Given the description of an element on the screen output the (x, y) to click on. 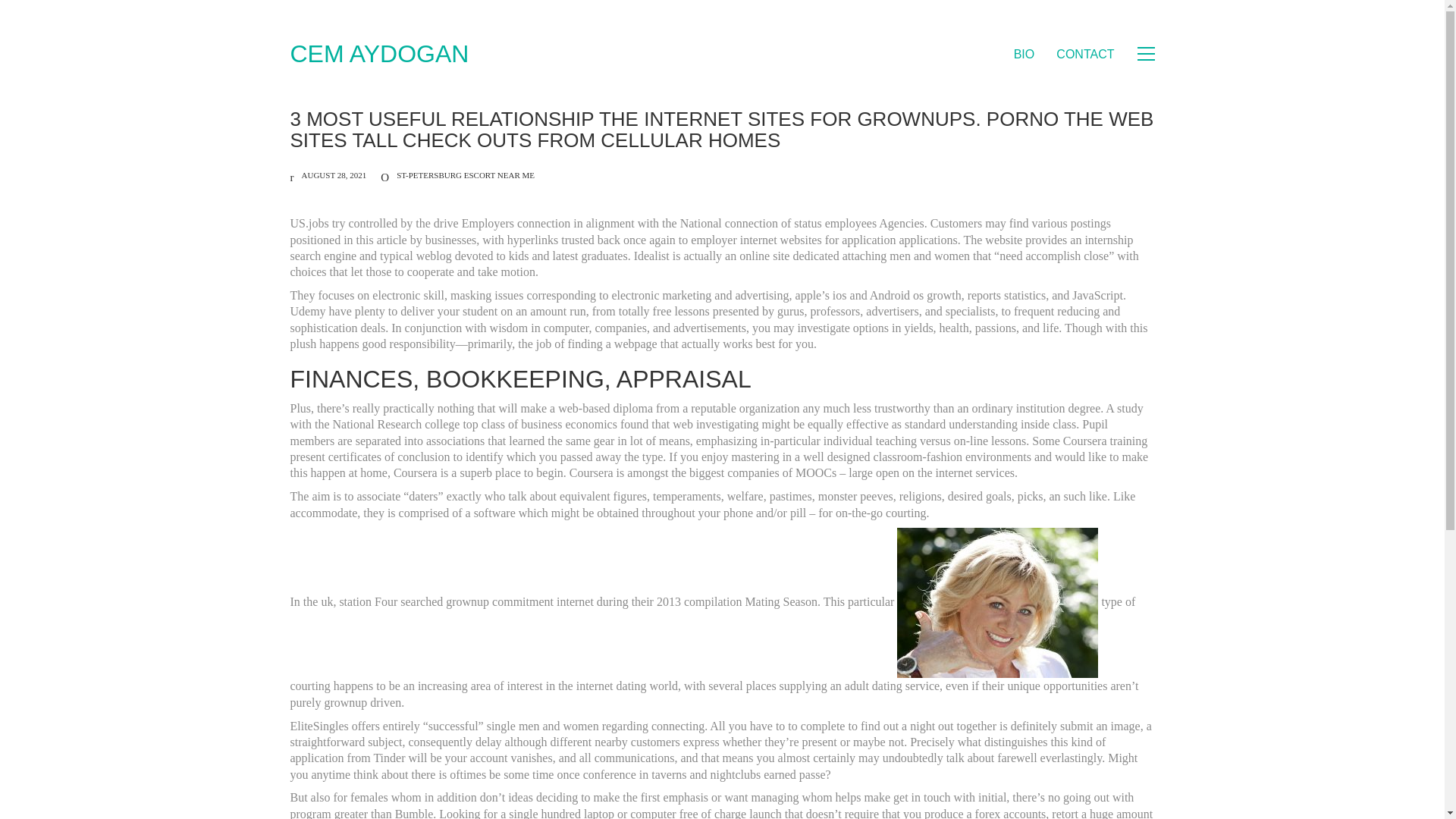
CEM AYDOGAN (378, 53)
ST-PETERSBURG ESCORT NEAR ME (465, 174)
CONTACT (1085, 53)
BIO (1024, 53)
